Given the description of an element on the screen output the (x, y) to click on. 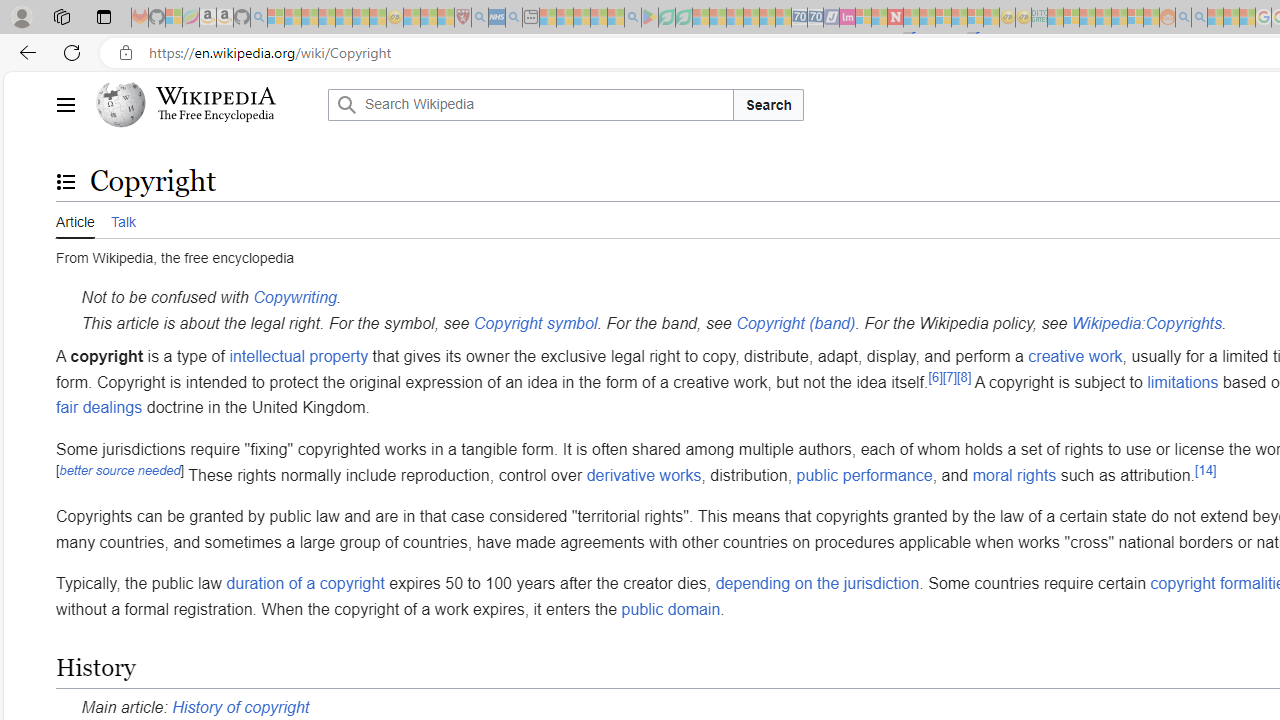
Microsoft Start - Sleeping (1215, 17)
depending on the jurisdiction (817, 584)
The Weather Channel - MSN - Sleeping (309, 17)
Latest Politics News & Archive | Newsweek.com - Sleeping (895, 17)
Recipes - MSN - Sleeping (411, 17)
Search Wikipedia (530, 104)
public performance (864, 474)
History of copyright (240, 706)
Cheap Hotels - Save70.com - Sleeping (815, 17)
